Given the description of an element on the screen output the (x, y) to click on. 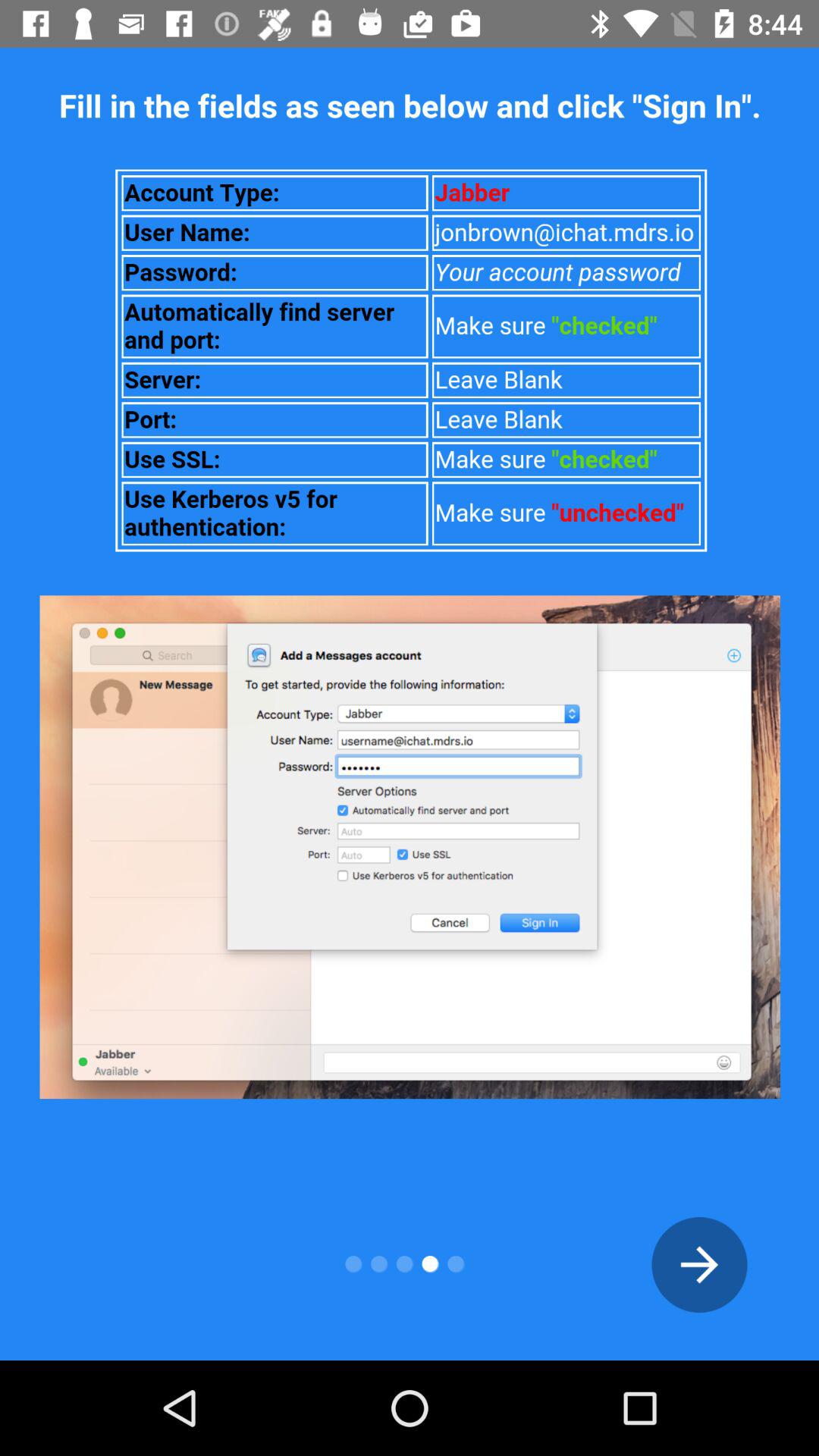
go forward (699, 1264)
